Given the description of an element on the screen output the (x, y) to click on. 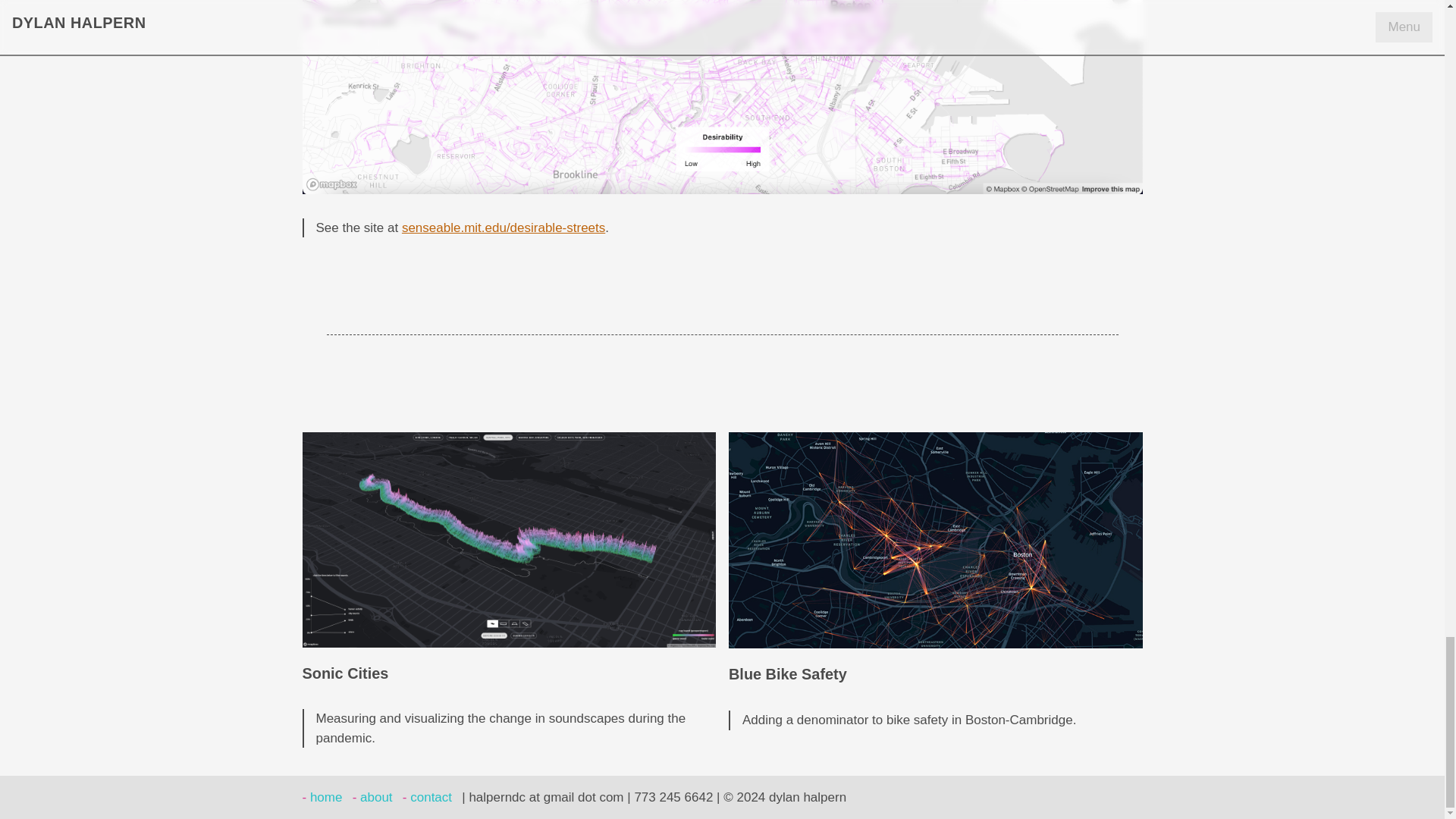
about (372, 797)
contact (427, 797)
home (321, 797)
